Given the description of an element on the screen output the (x, y) to click on. 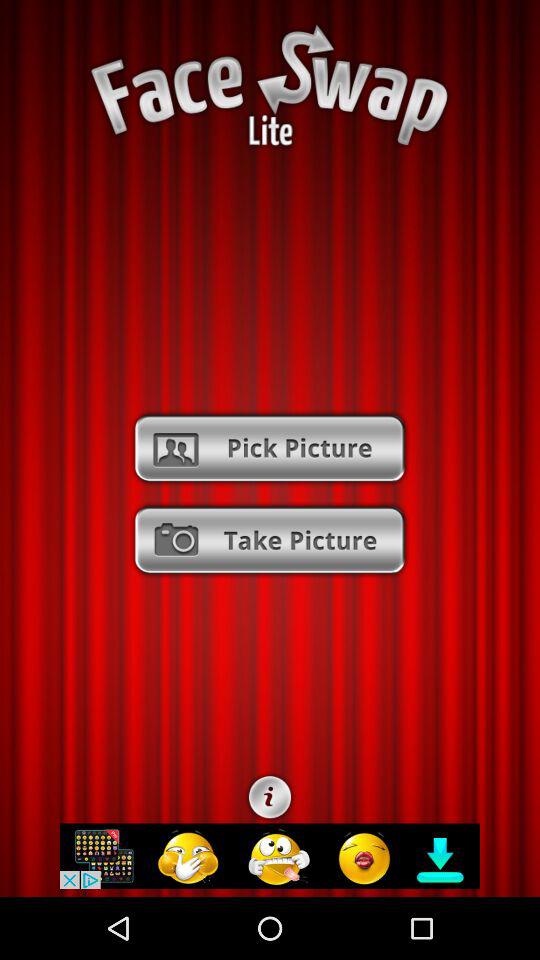
select the option (269, 540)
